Given the description of an element on the screen output the (x, y) to click on. 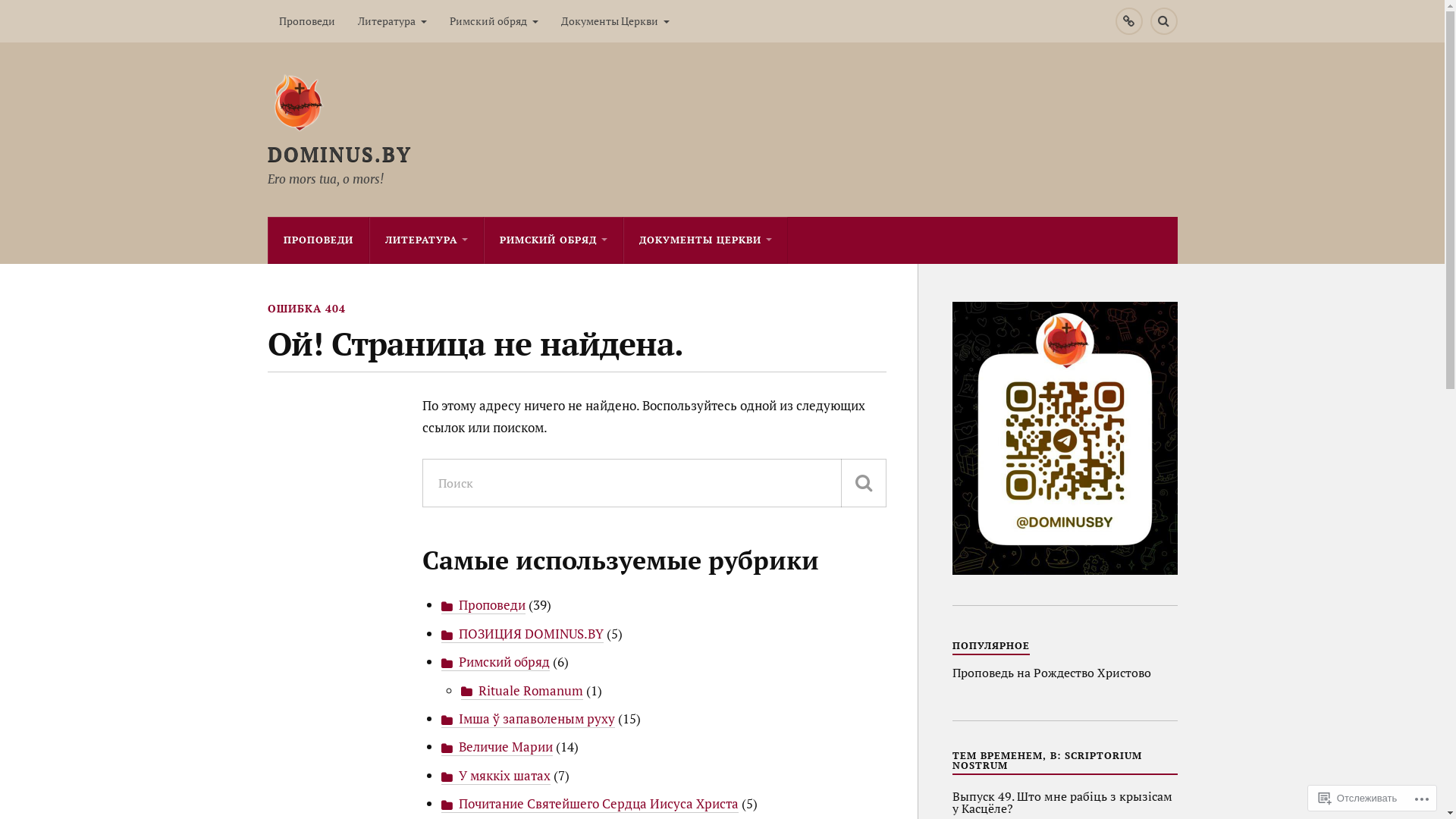
DOMINUS.BY Element type: text (338, 153)
Rituale Romanum Element type: text (522, 690)
